Given the description of an element on the screen output the (x, y) to click on. 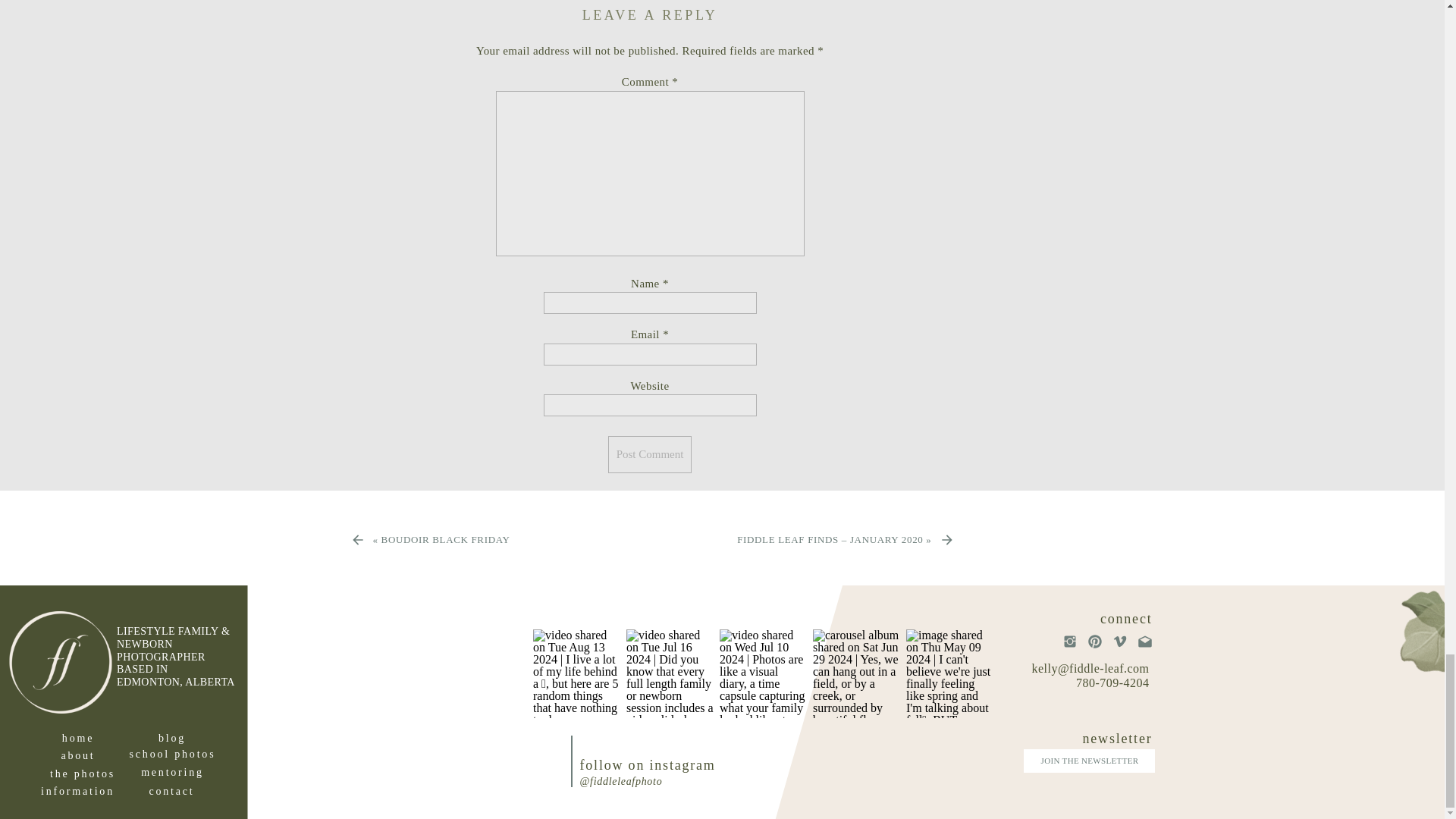
Post Comment (650, 454)
JOIN THE NEWSLETTER (1089, 761)
mentoring (172, 771)
contact (171, 790)
school photos (172, 753)
home (78, 738)
blog (171, 738)
information (77, 790)
the photos (82, 773)
about (78, 755)
